Given the description of an element on the screen output the (x, y) to click on. 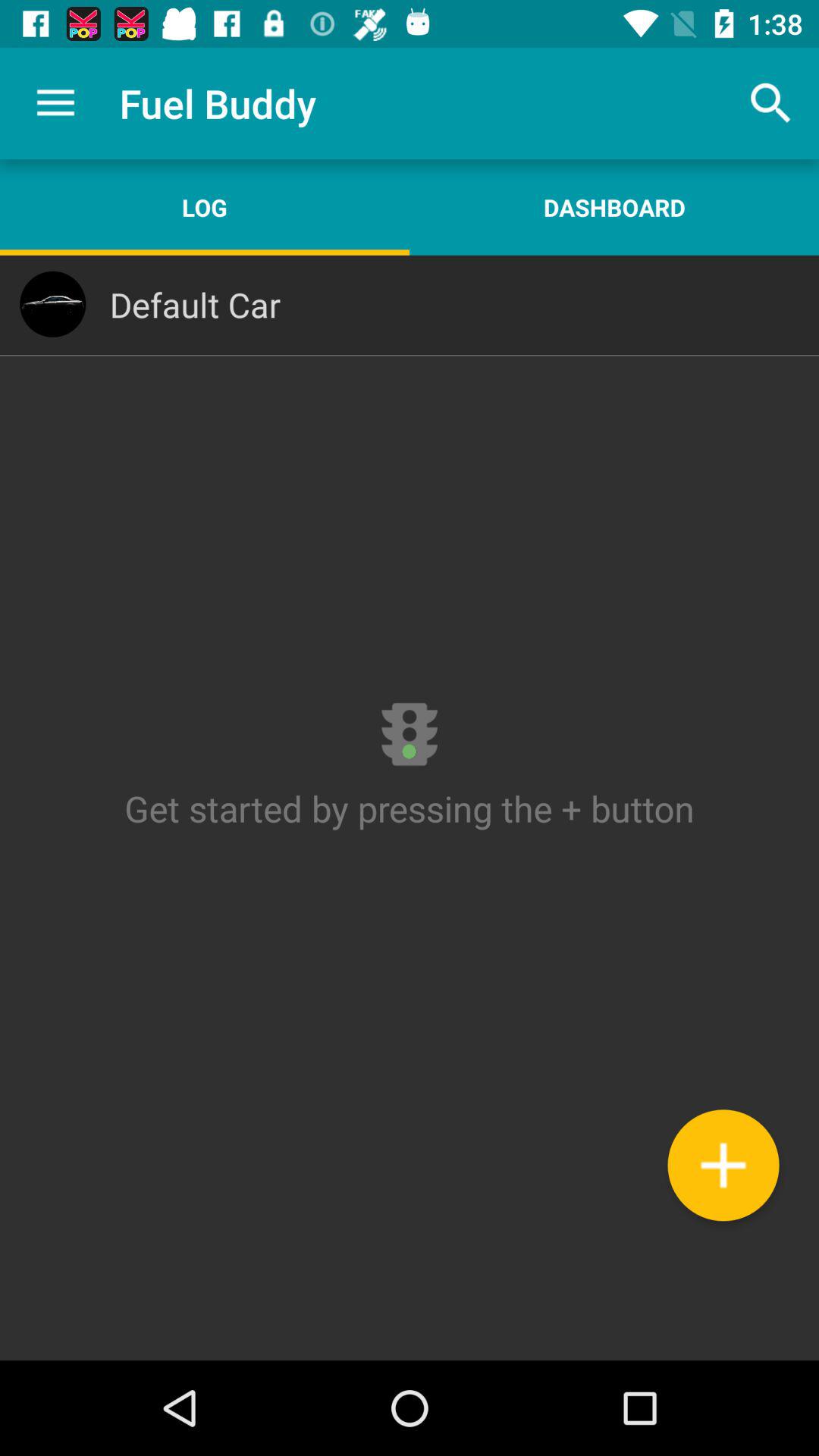
choose the icon to the right of the log app (614, 207)
